Given the description of an element on the screen output the (x, y) to click on. 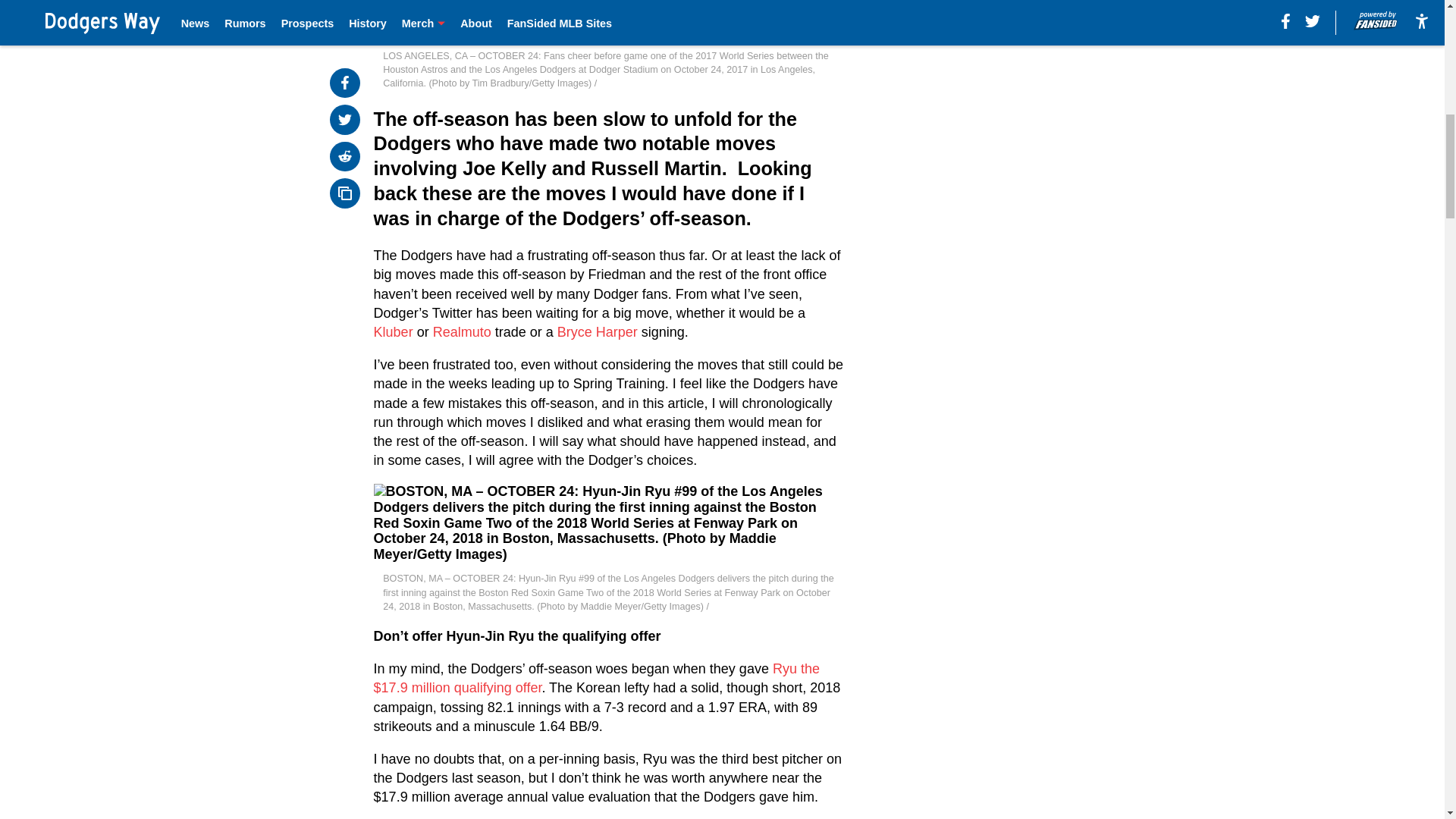
Bryce Harper (597, 331)
Kluber (393, 331)
Realmuto (462, 331)
